Given the description of an element on the screen output the (x, y) to click on. 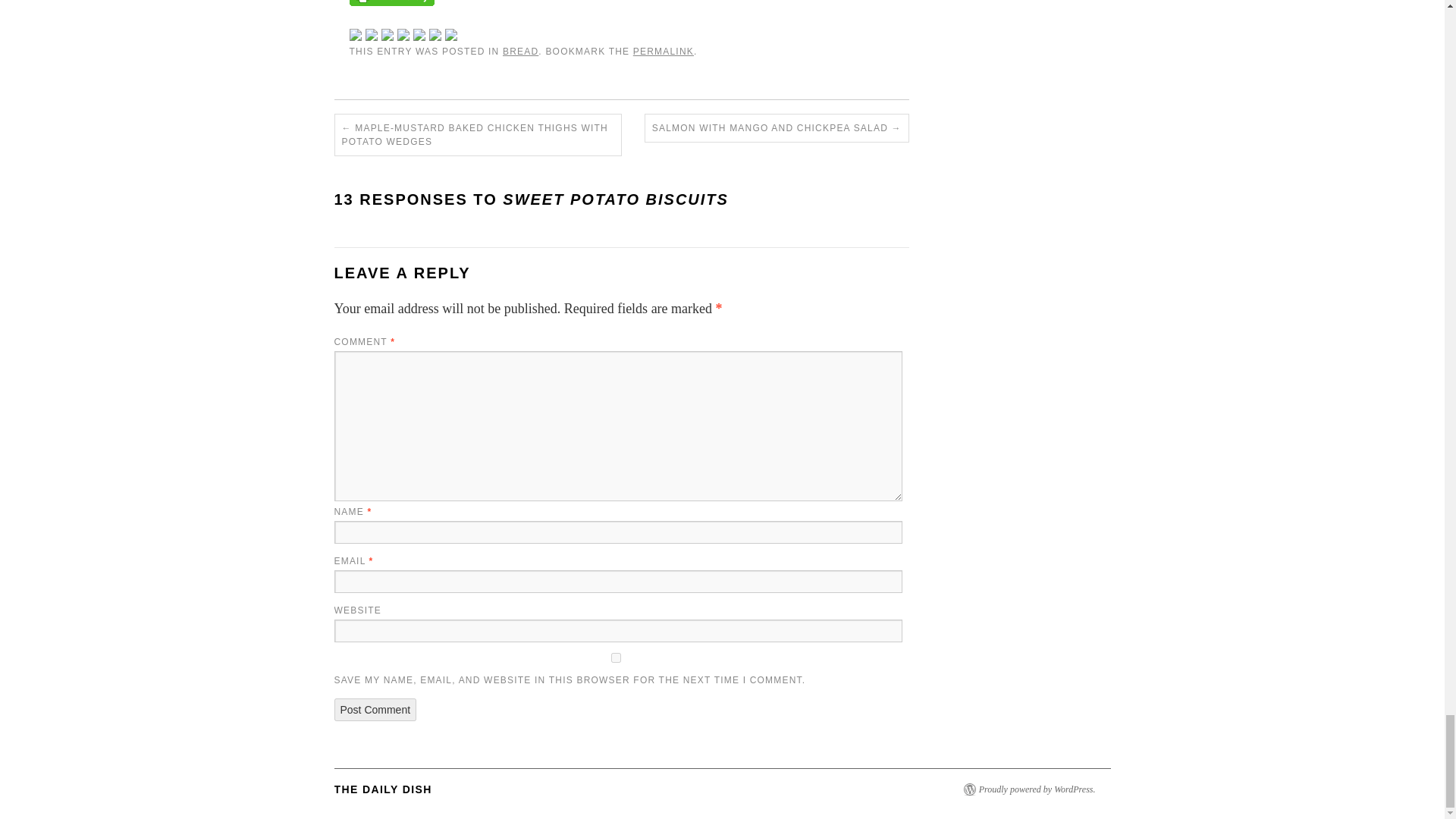
yes (614, 657)
PERMALINK (663, 50)
Post Comment (374, 709)
THE DAILY DISH (381, 788)
Proudly powered by WordPress. (1036, 789)
Post Comment (374, 709)
BREAD (520, 50)
